Given the description of an element on the screen output the (x, y) to click on. 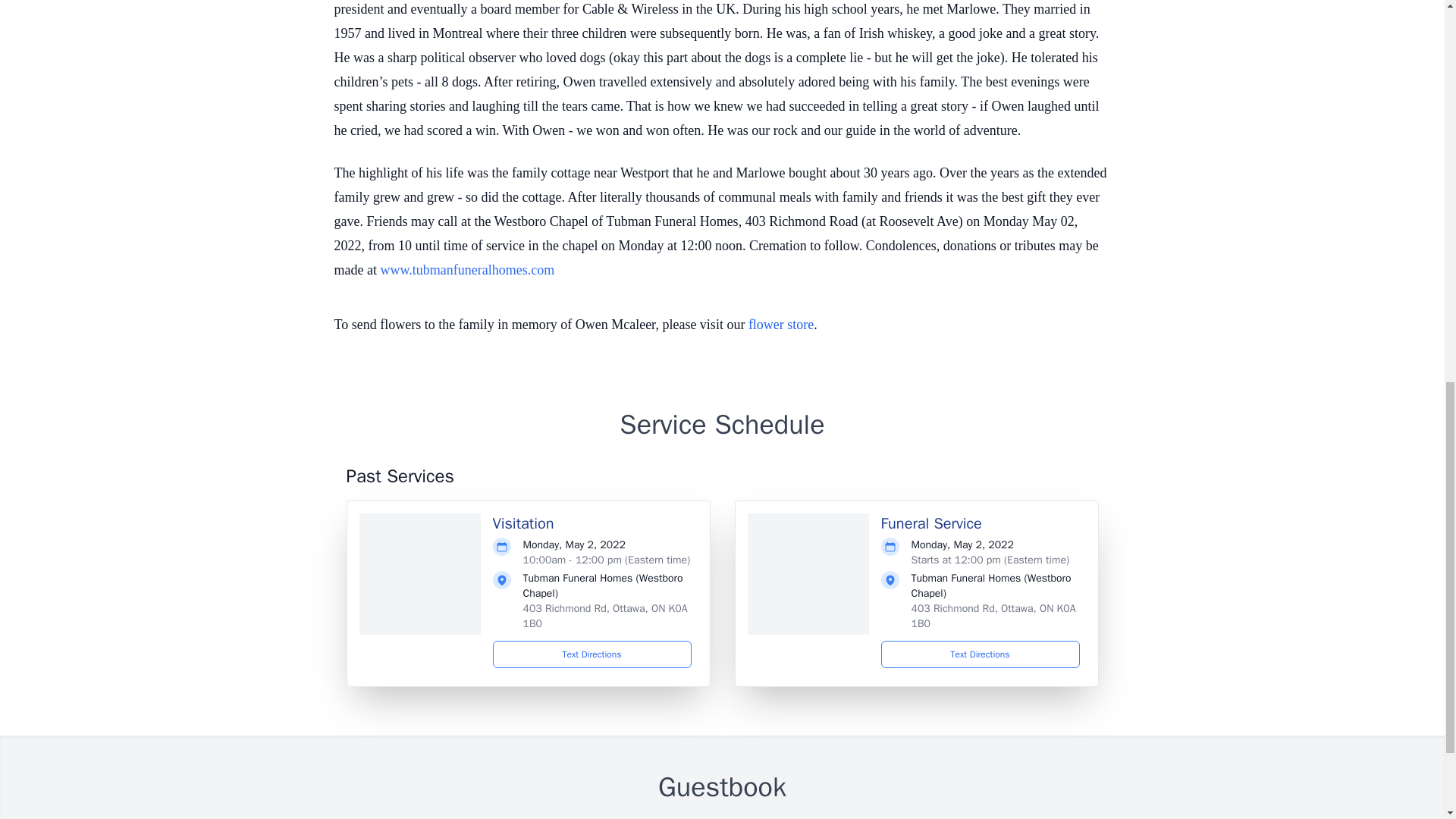
403 Richmond Rd, Ottawa, ON K0A 1B0 (604, 615)
flower store (780, 324)
Text Directions (592, 654)
Text Directions (980, 654)
www.tubmanfuneralhomes.com (467, 269)
403 Richmond Rd, Ottawa, ON K0A 1B0 (993, 615)
